Given the description of an element on the screen output the (x, y) to click on. 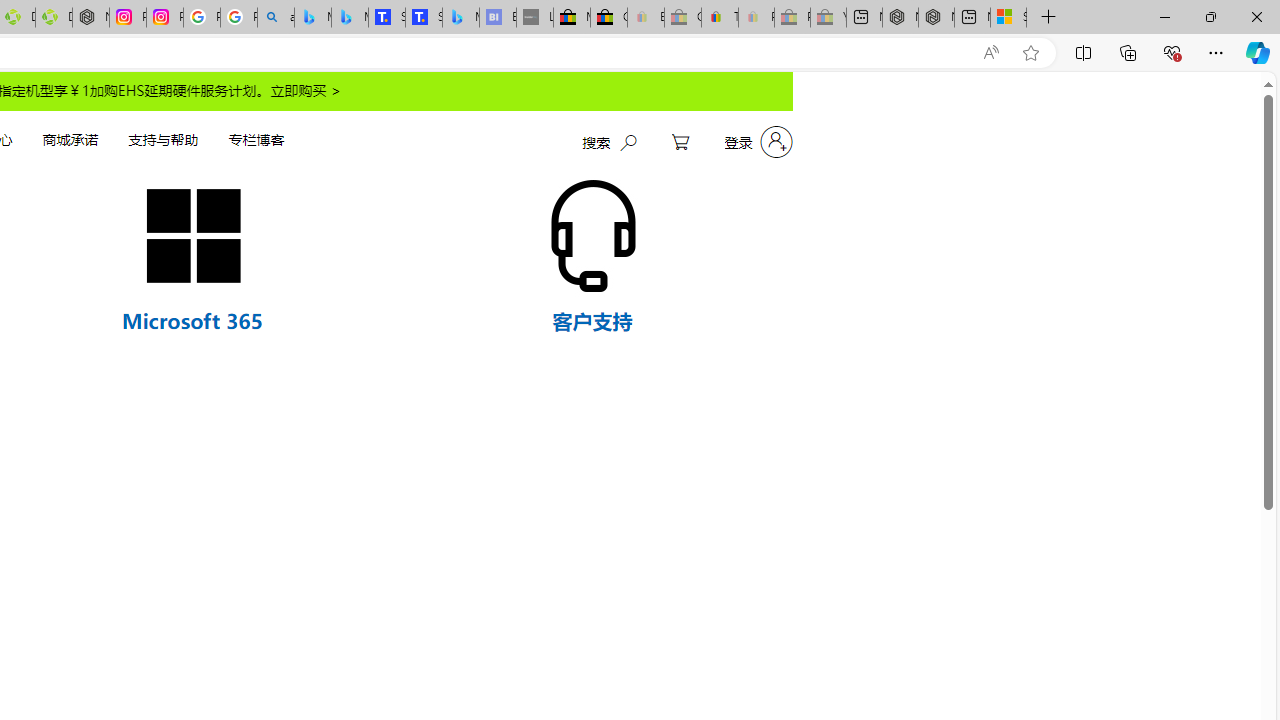
Yard, Garden & Outdoor Living - Sleeping (828, 17)
Press Room - eBay Inc. - Sleeping (792, 17)
Sign in to your Microsoft account (1008, 17)
Nordace - Summer Adventures 2024 (936, 17)
Payments Terms of Use | eBay.com - Sleeping (756, 17)
Nordace - Nordace Edin Collection (90, 17)
Microsoft Bing Travel - Shangri-La Hotel Bangkok (460, 17)
